Given the description of an element on the screen output the (x, y) to click on. 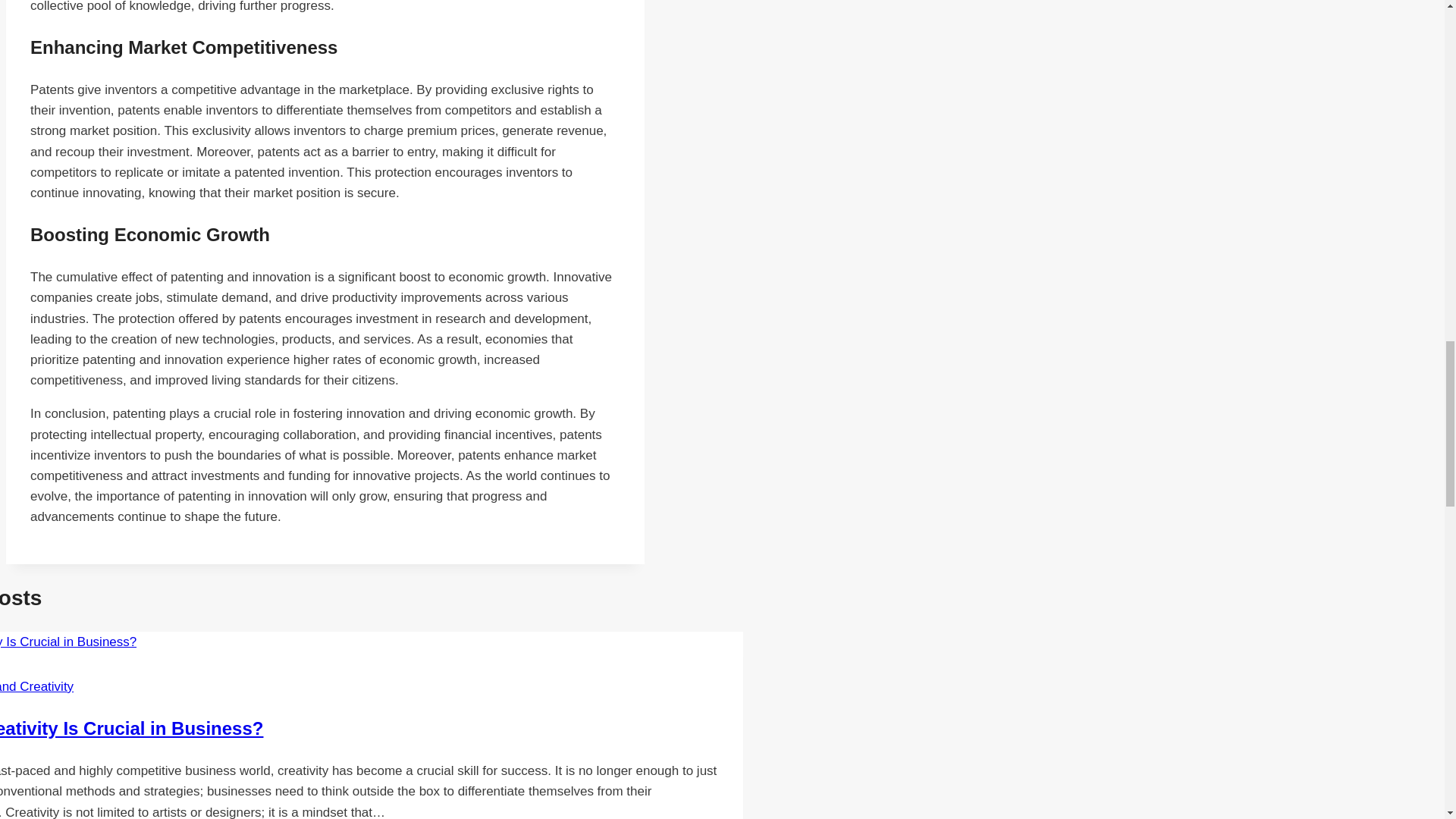
Why Creativity Is Crucial in Business? (131, 728)
Innovation and Creativity (37, 686)
